Given the description of an element on the screen output the (x, y) to click on. 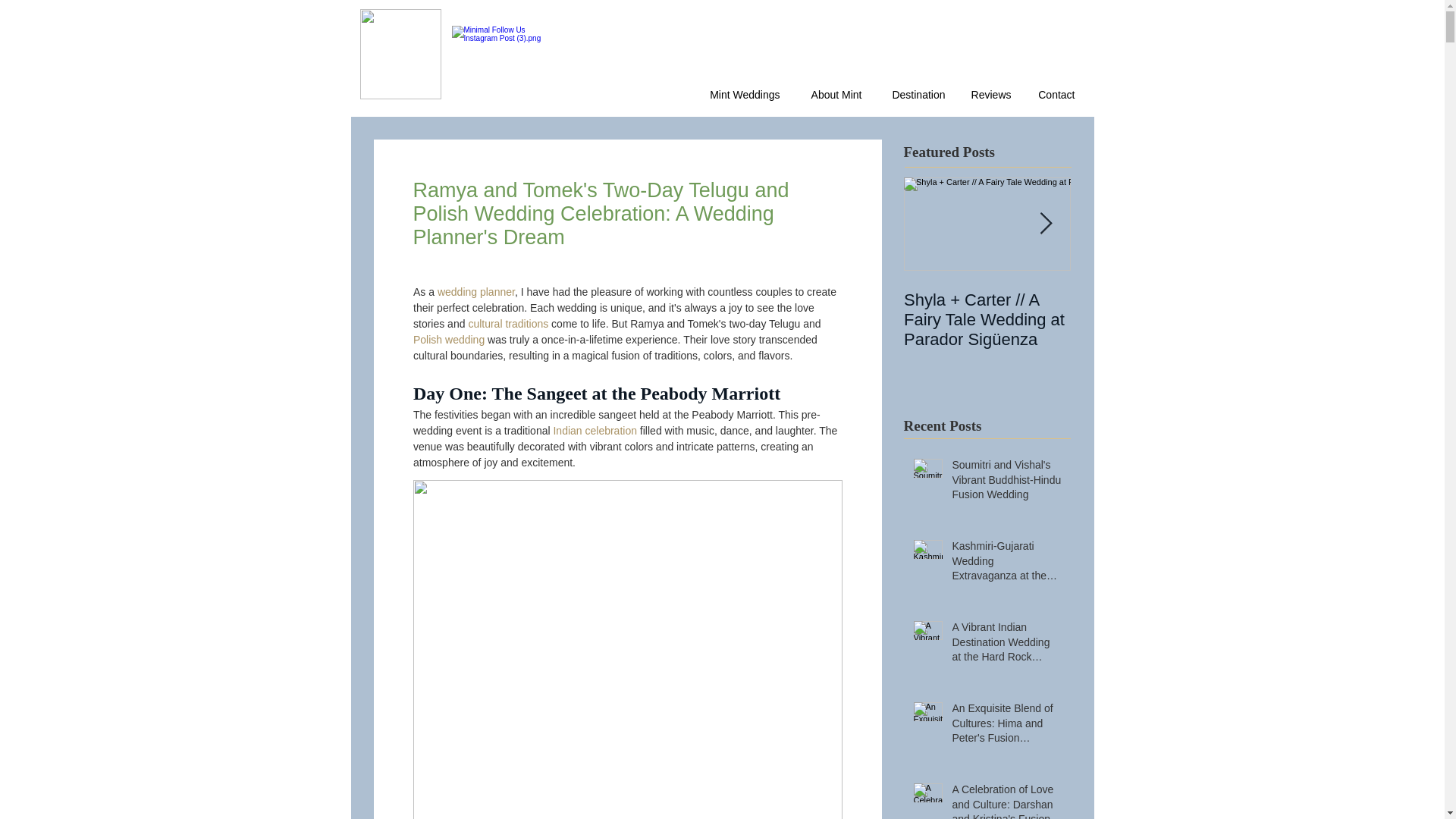
About Mint (832, 94)
wedding planner (474, 291)
Contact (1054, 94)
Mint Weddings (741, 94)
Soumitri and Vishal's Vibrant Buddhist-Hindu Fusion Wedding (1006, 482)
cultural traditions (507, 323)
Polish wedding (447, 339)
Reviews (989, 94)
Destination (914, 94)
Official Logo - Mint To Be Events.png (400, 54)
Indian celebration (595, 430)
